Given the description of an element on the screen output the (x, y) to click on. 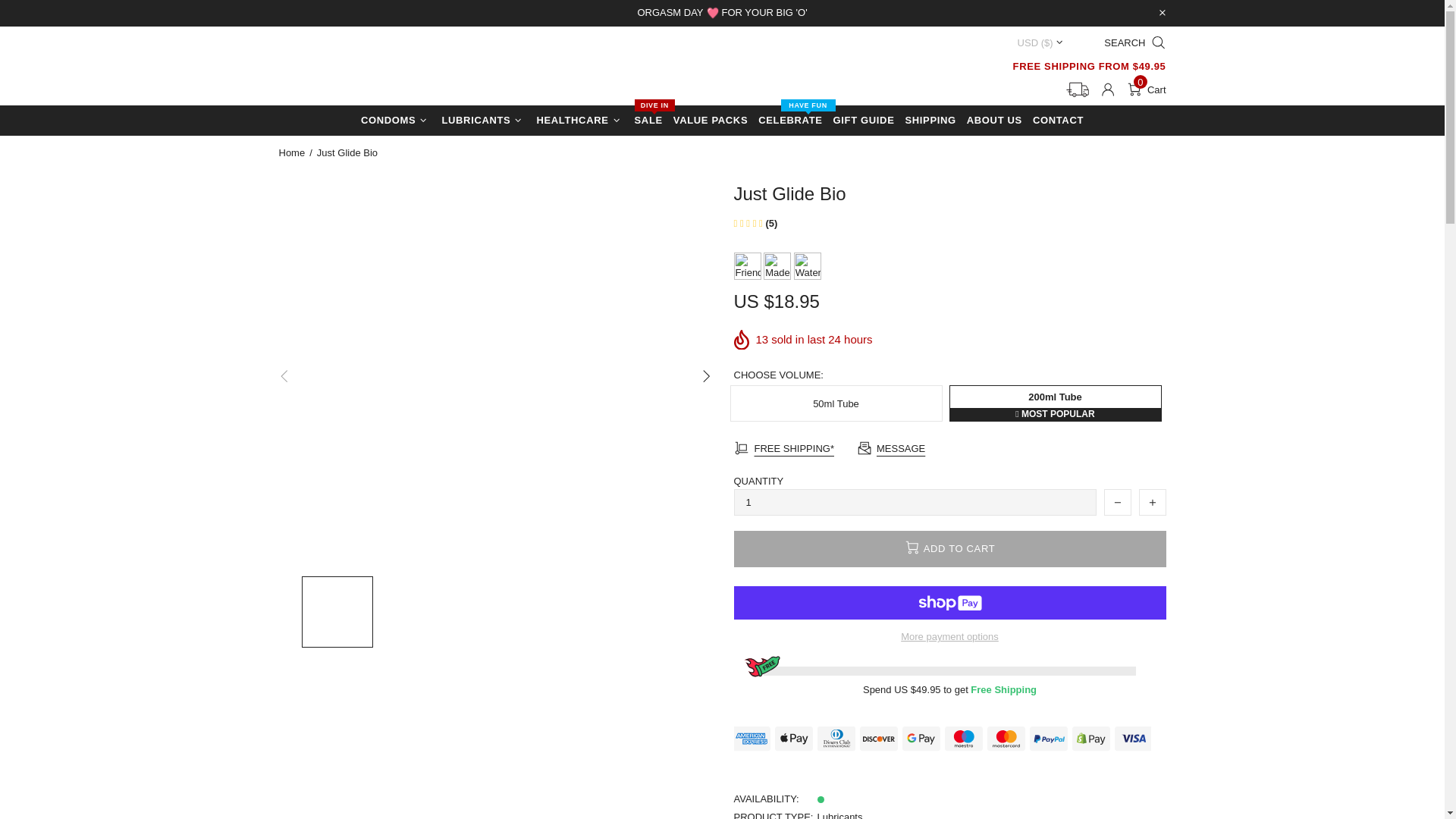
ORGASM DAY (670, 13)
Friendly with Latex (747, 266)
1 (914, 501)
Water Based Lubricants (807, 265)
Made in Germany (1146, 89)
Made in Germany (776, 266)
WorldCondoms (777, 265)
Water Based Lubricants (371, 68)
Friendly with Latex (807, 266)
SEARCH (748, 265)
FOR YOUR BIG 'O' (1129, 42)
CONDOMS (765, 13)
